Given the description of an element on the screen output the (x, y) to click on. 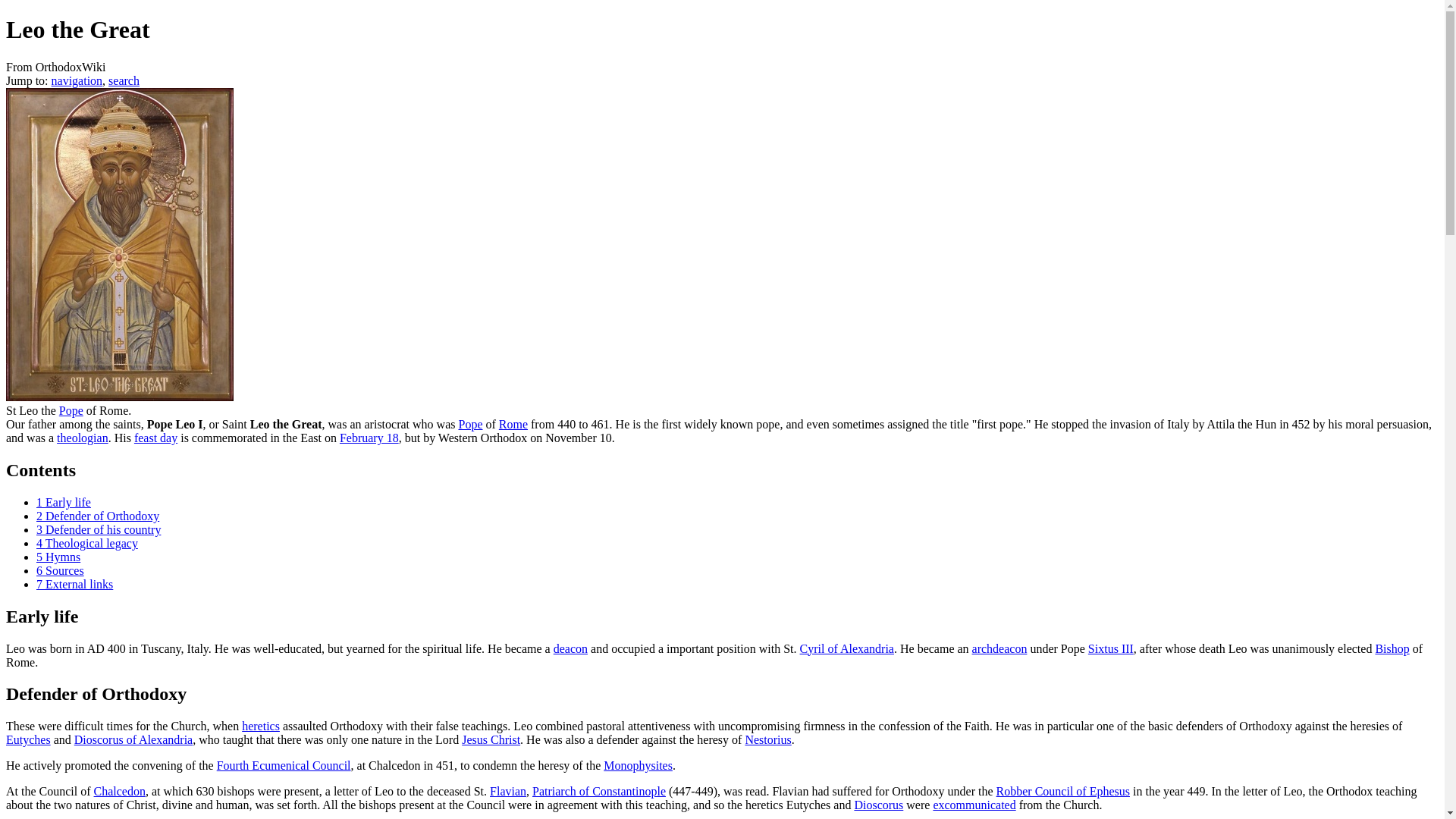
Jesus Christ (968, 449)
Dioscorus of Alexandria (623, 449)
Sixtus III of Rome (200, 372)
Pope (1252, 448)
Feast day (663, 142)
Go (1423, 46)
archdeacon (1103, 355)
Bishop (473, 372)
4 Theological legacy (204, 235)
deacon (692, 355)
